Given the description of an element on the screen output the (x, y) to click on. 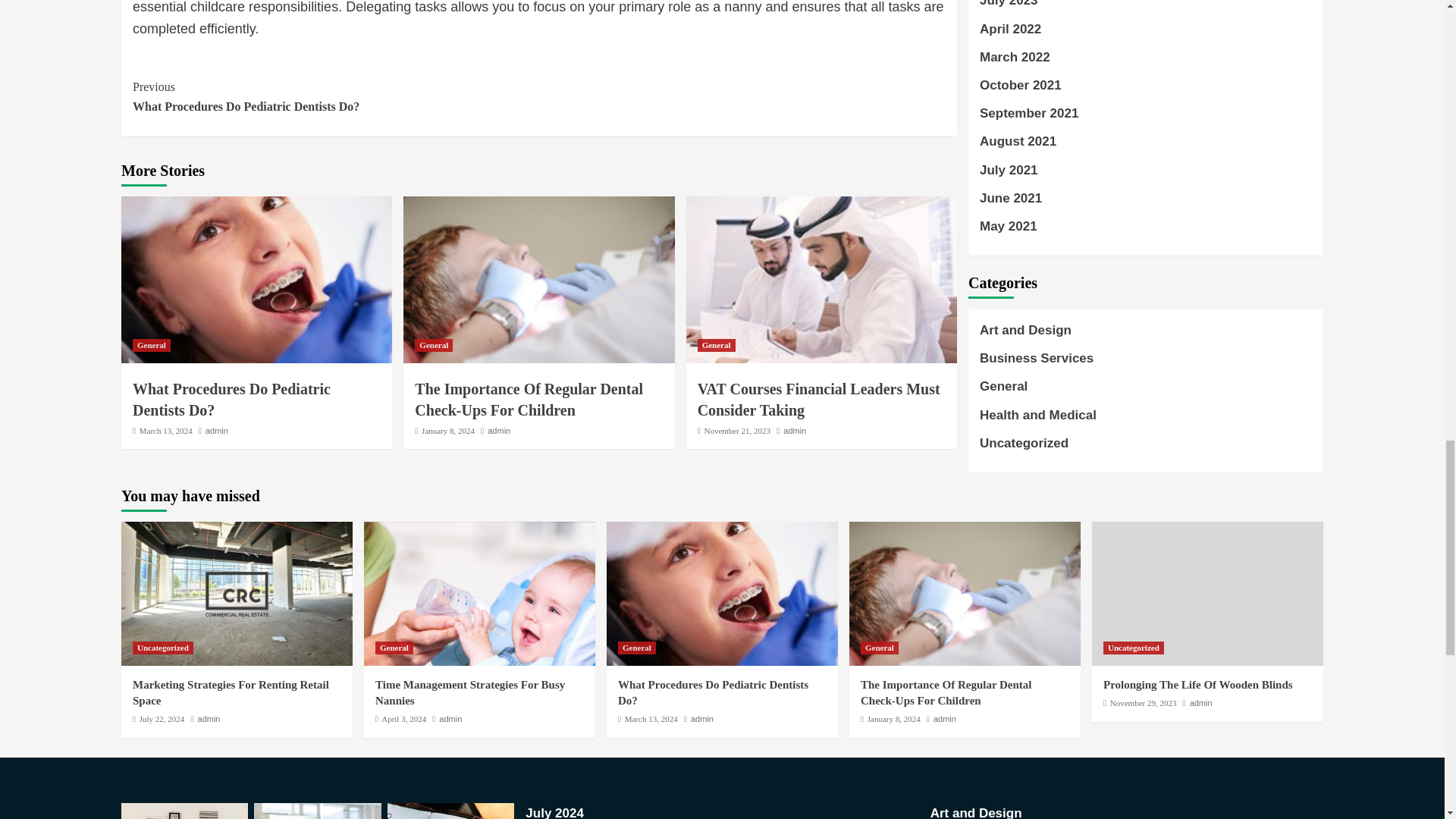
The Importance Of Regular Dental Check-Ups For Children (528, 399)
General (716, 345)
VAT Courses Financial Leaders Must Consider Taking (818, 399)
What Procedures Do Pediatric Dentists Do? (231, 399)
admin (499, 429)
admin (794, 429)
General (433, 345)
November 21, 2023 (736, 429)
General (335, 96)
March 13, 2024 (151, 345)
January 8, 2024 (165, 429)
admin (448, 429)
